Given the description of an element on the screen output the (x, y) to click on. 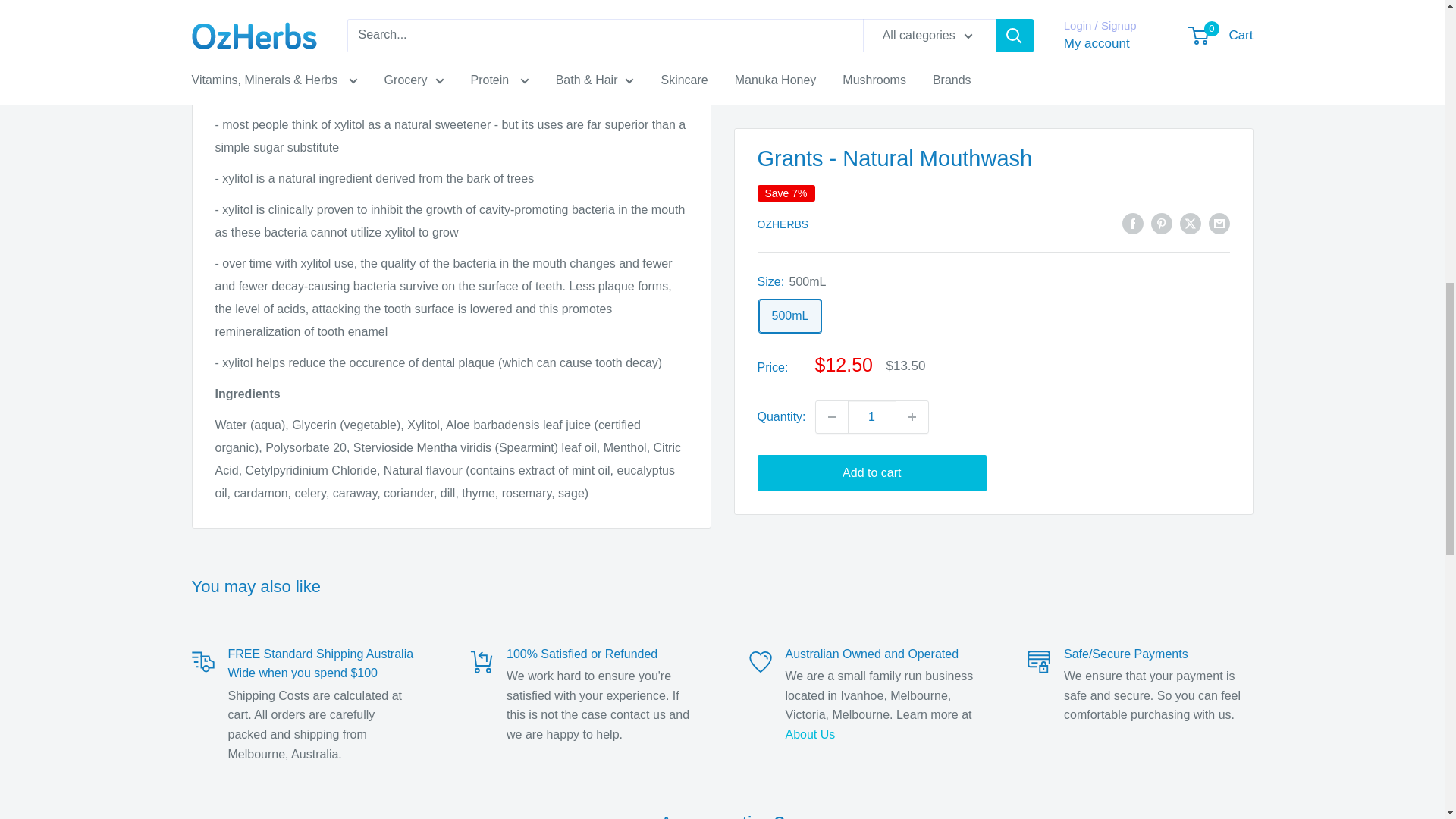
About Us (810, 734)
